Given the description of an element on the screen output the (x, y) to click on. 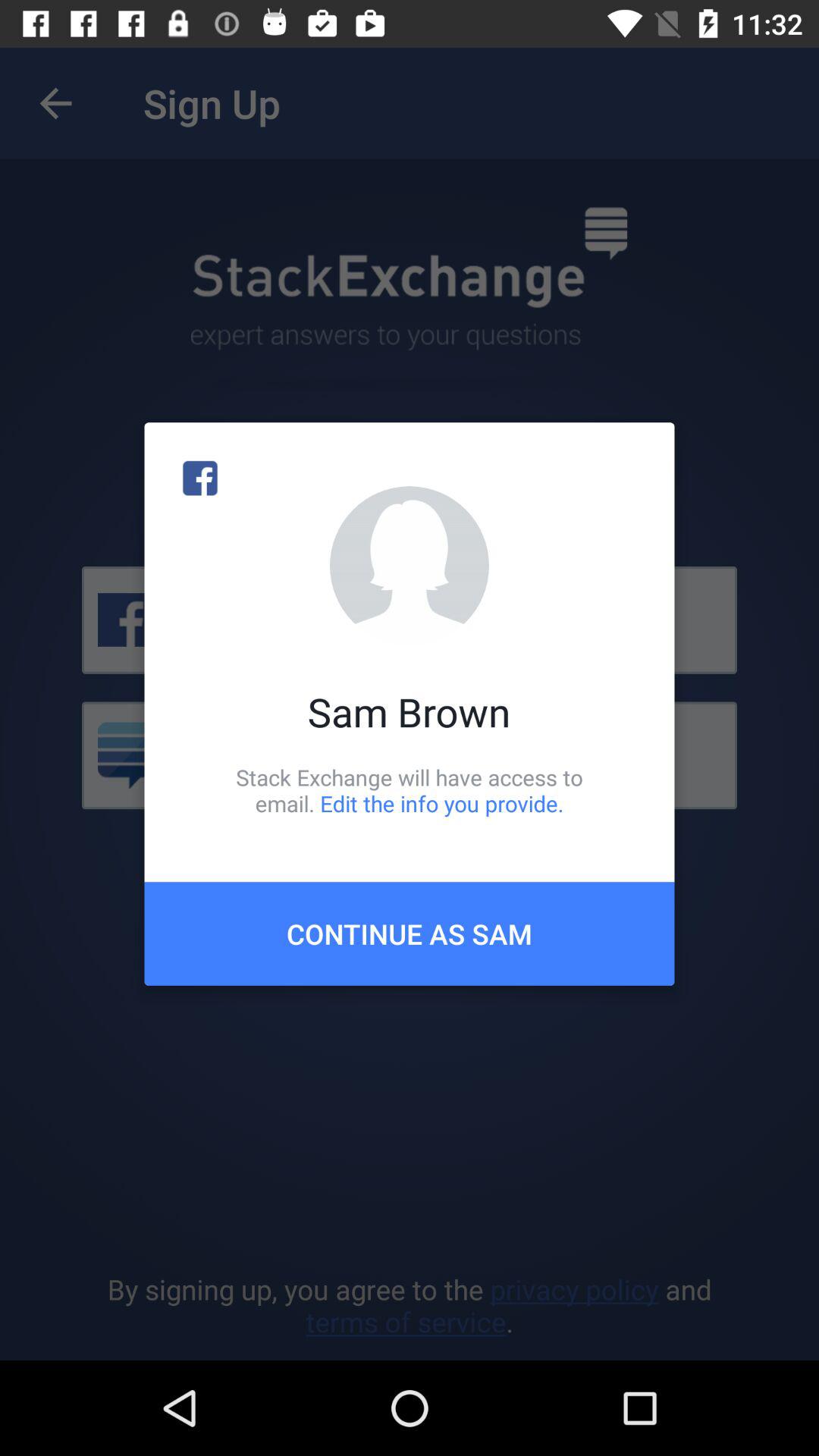
launch the item above continue as sam (409, 790)
